Given the description of an element on the screen output the (x, y) to click on. 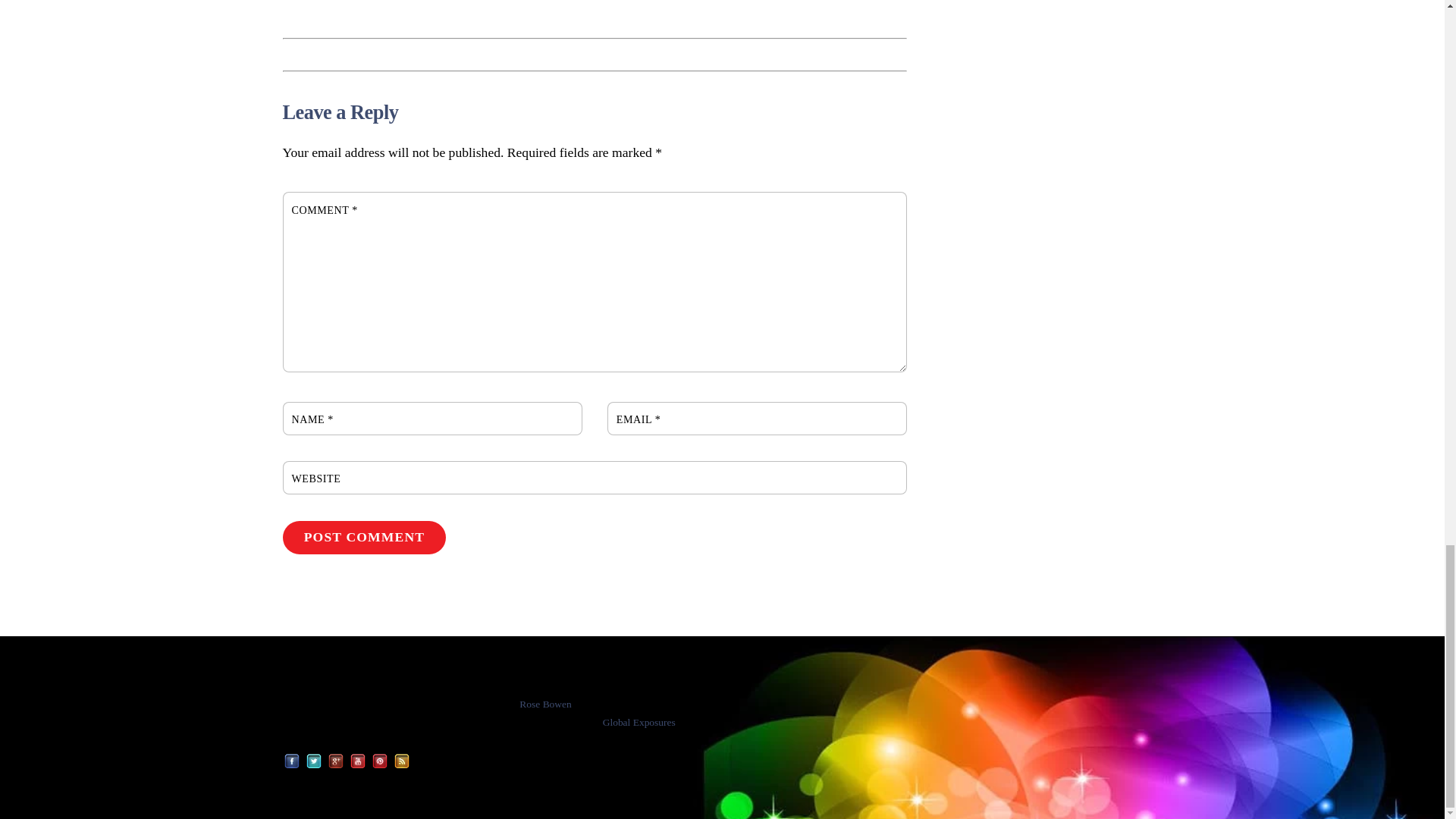
Post Comment (363, 537)
Rose Bowen (325, 703)
Post Comment (363, 537)
